Given the description of an element on the screen output the (x, y) to click on. 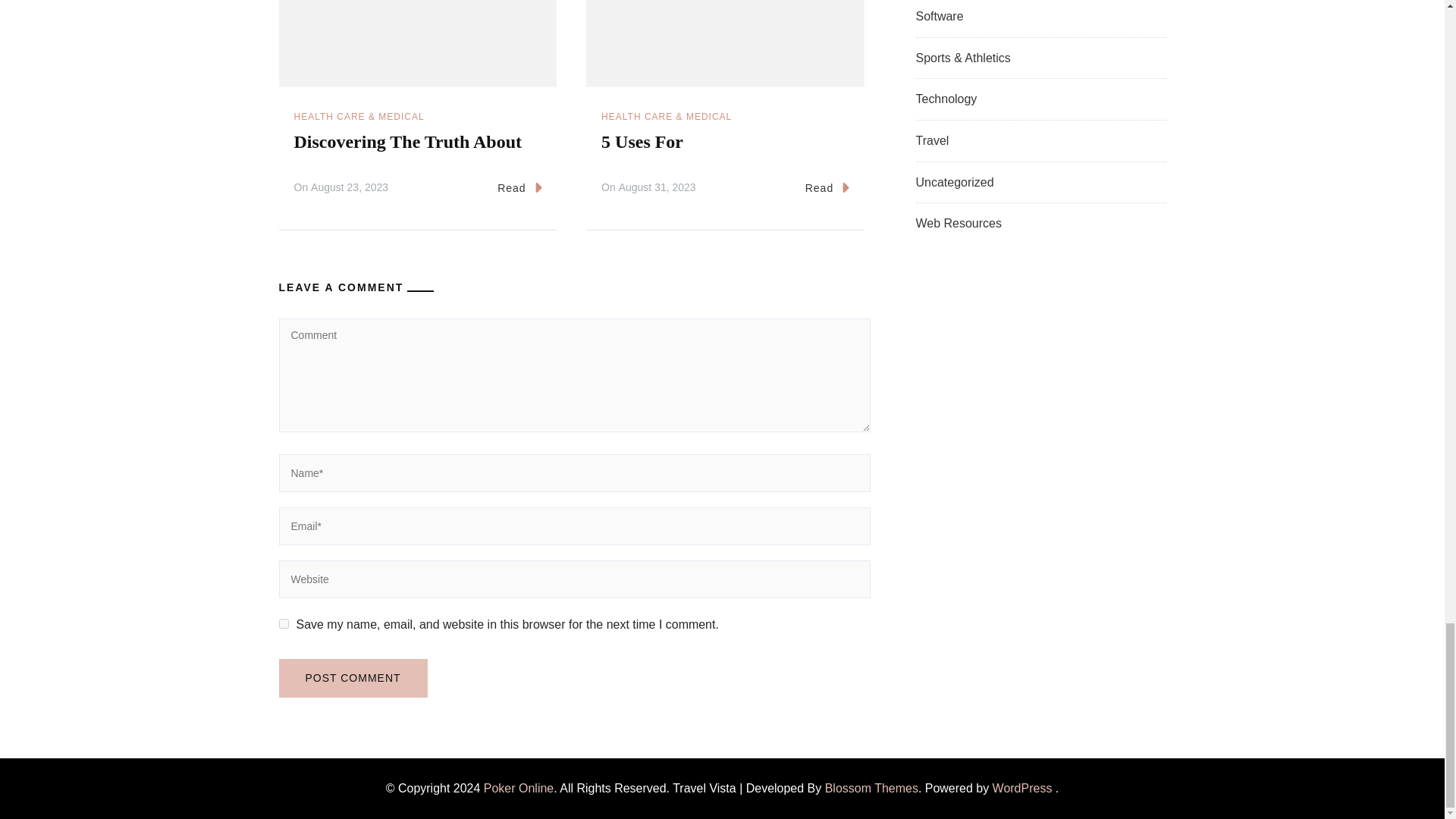
Post Comment (353, 678)
Post Comment (353, 678)
yes (283, 623)
Read (826, 188)
August 23, 2023 (349, 187)
5 Uses For (641, 141)
August 31, 2023 (656, 187)
Read (519, 188)
Discovering The Truth About (408, 141)
